Given the description of an element on the screen output the (x, y) to click on. 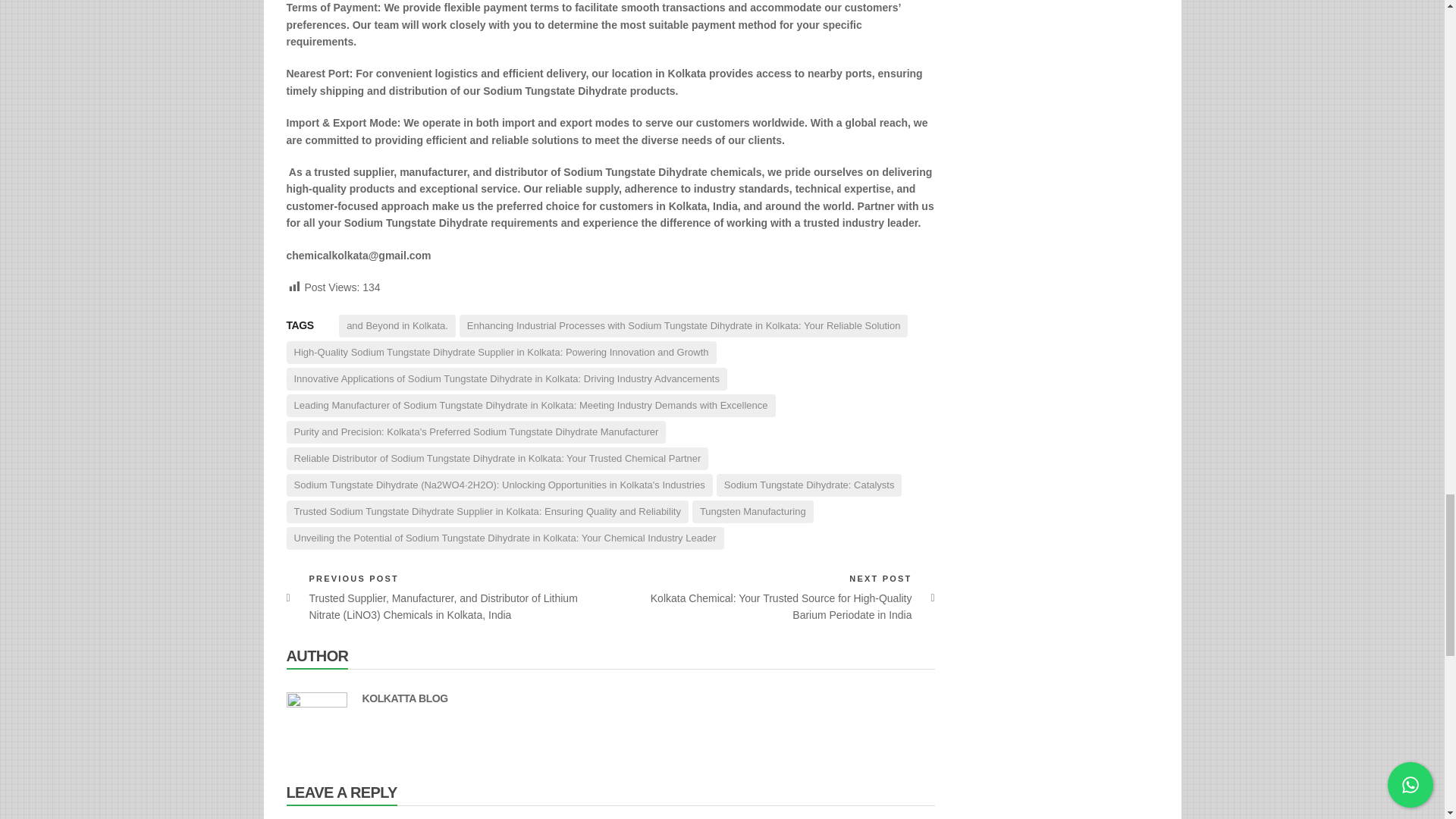
and Beyond in Kolkata. (397, 325)
KOLKATTA BLOG (405, 698)
Posts by Kolkatta blog (405, 698)
Tungsten Manufacturing (753, 511)
Sodium Tungstate Dihydrate: Catalysts (809, 485)
